Given the description of an element on the screen output the (x, y) to click on. 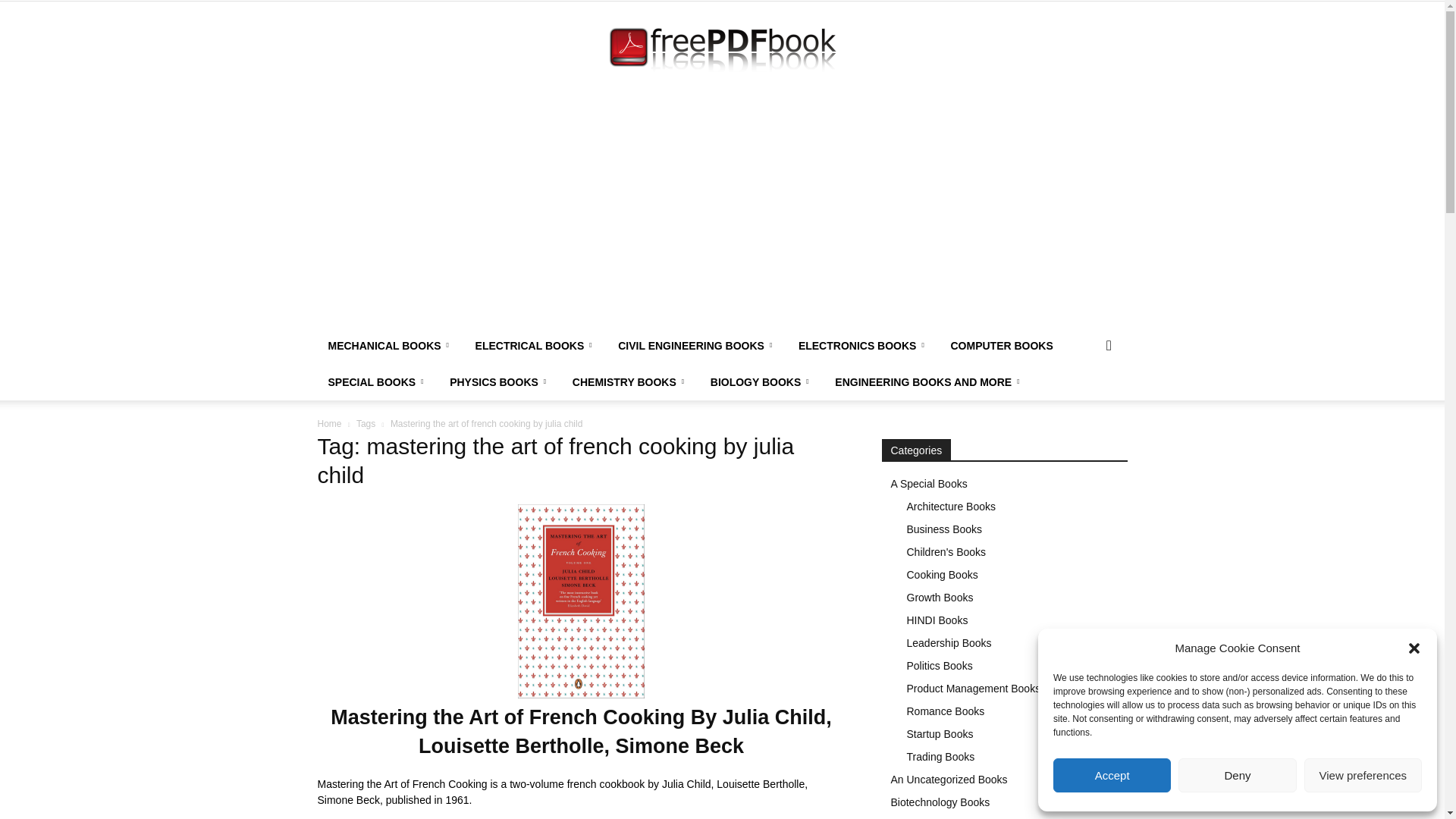
Deny (1236, 775)
View preferences (1363, 775)
Accept (1111, 775)
